Given the description of an element on the screen output the (x, y) to click on. 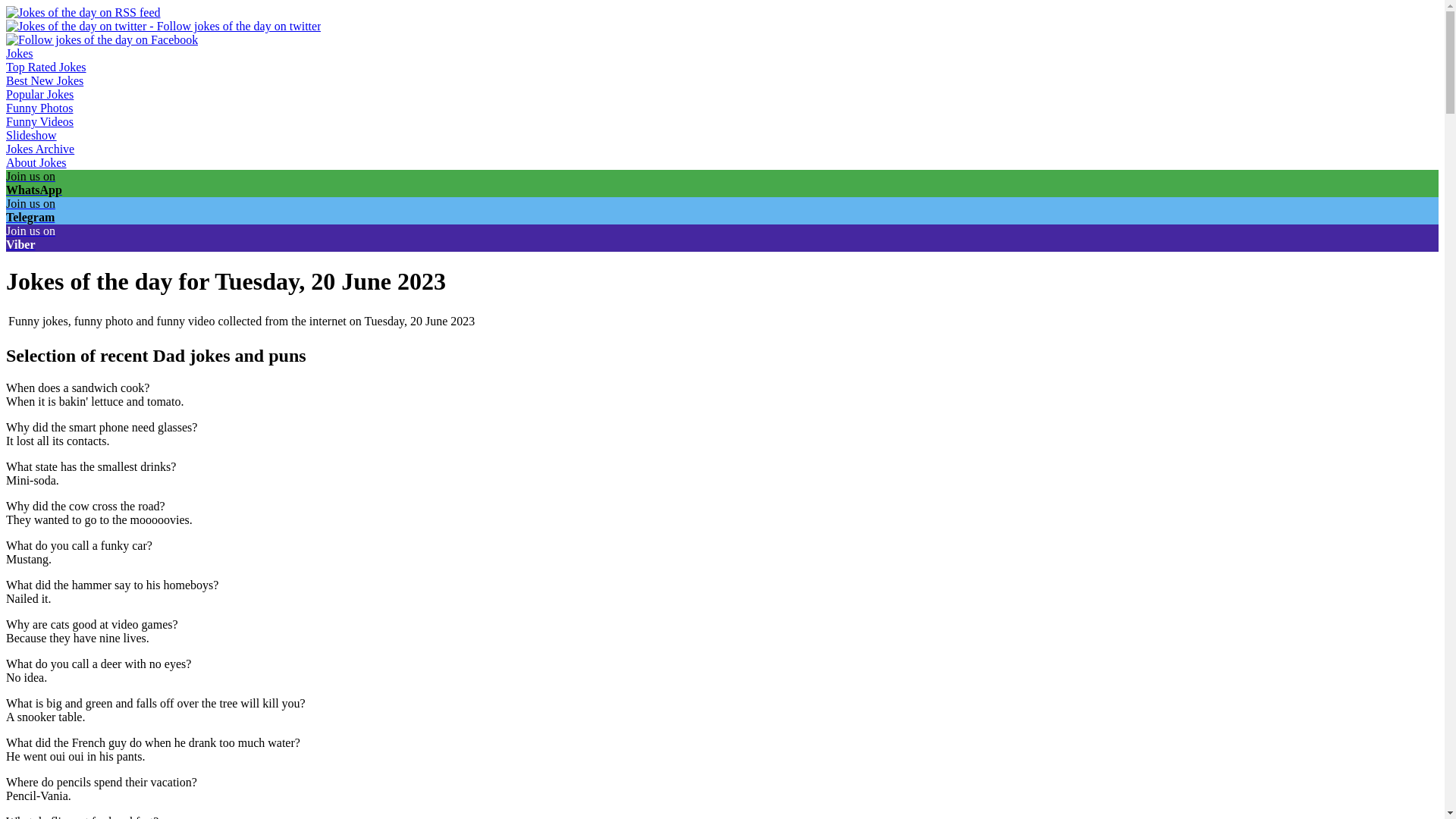
Jokes Archive (39, 148)
Funny Videos (39, 121)
Jokes (19, 52)
Jokes Archive (39, 148)
Best New Jokes (43, 80)
Jokes (19, 52)
Slideshow (30, 134)
The Best Jokes - top rated jokes (45, 66)
Popular Jokes (39, 93)
Funny Videos (39, 121)
